Given the description of an element on the screen output the (x, y) to click on. 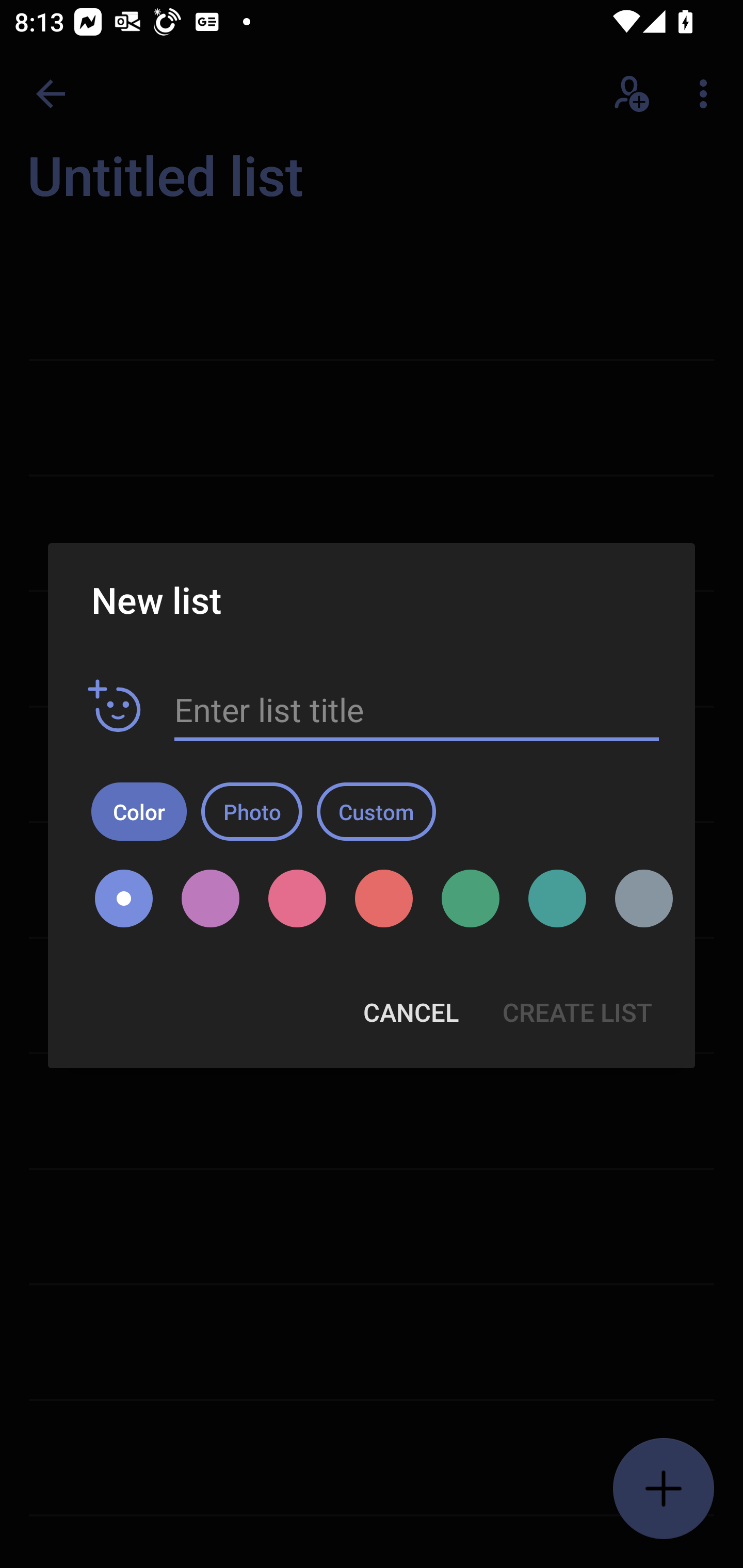
Set Emoji (114, 706)
Enter list title (416, 710)
Color Color category (138, 811)
Photo Photo category (251, 811)
Custom Custom category (376, 811)
Selected, Dark blue (123, 898)
Dark purple (210, 898)
Dark rose (297, 898)
Dark red (383, 898)
Dark green (470, 898)
Dark teal (557, 898)
Dark grey (636, 898)
CANCEL (410, 1011)
CREATE LIST (576, 1011)
